Given the description of an element on the screen output the (x, y) to click on. 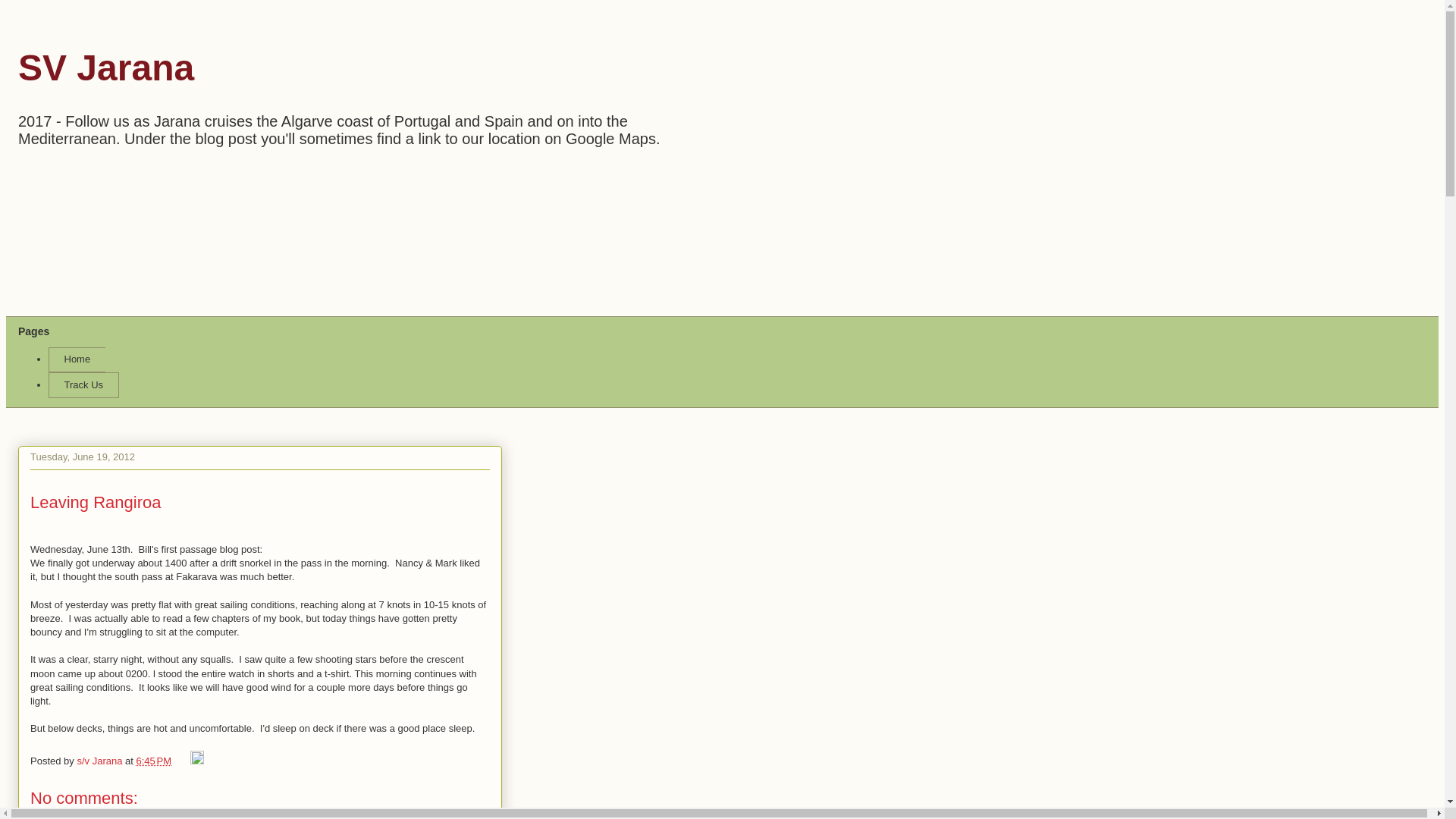
author profile (101, 760)
Email Post (182, 760)
SV Jarana (105, 67)
Track Us (83, 385)
Home (76, 360)
Edit Post (196, 760)
permanent link (153, 760)
